Given the description of an element on the screen output the (x, y) to click on. 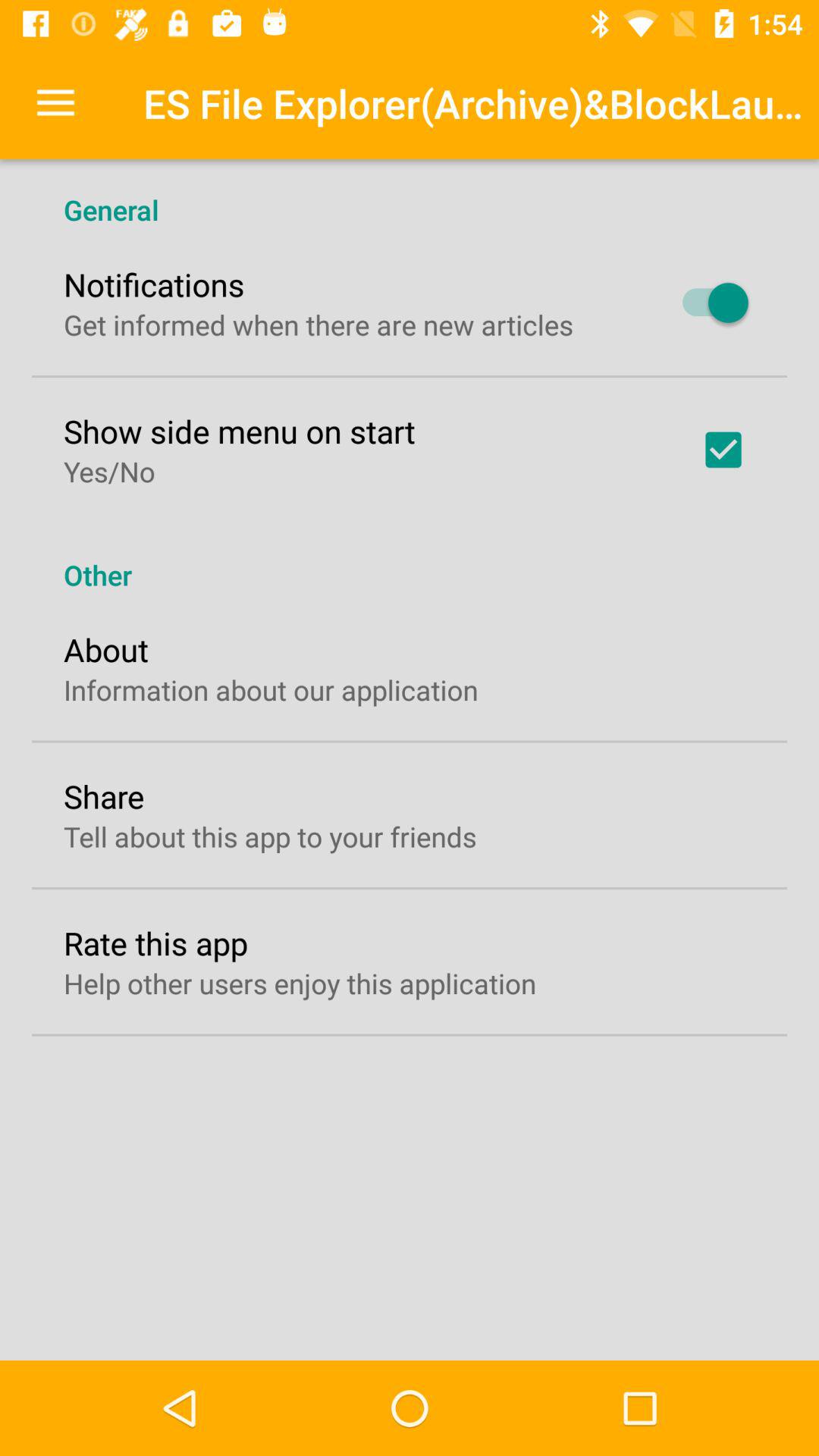
click icon above the notifications item (409, 193)
